Given the description of an element on the screen output the (x, y) to click on. 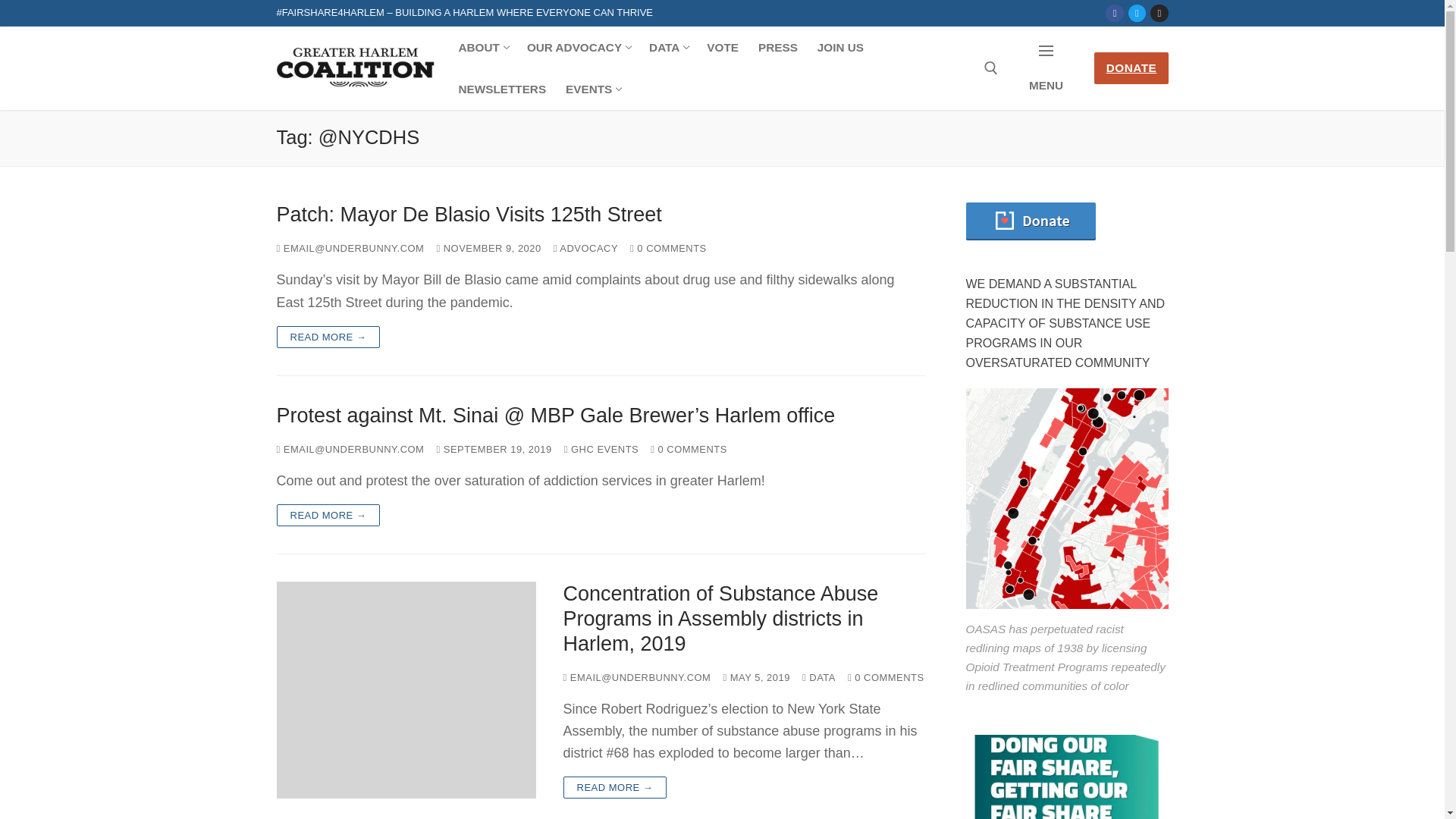
DONATE (1130, 67)
PRESS (778, 46)
Instagram (1158, 13)
Patch: Mayor De Blasio Visits 125th Street (577, 46)
Patch: Mayor De Blasio Visits 125th Street (600, 214)
NEWSLETTERS (668, 46)
Facebook (600, 214)
